Given the description of an element on the screen output the (x, y) to click on. 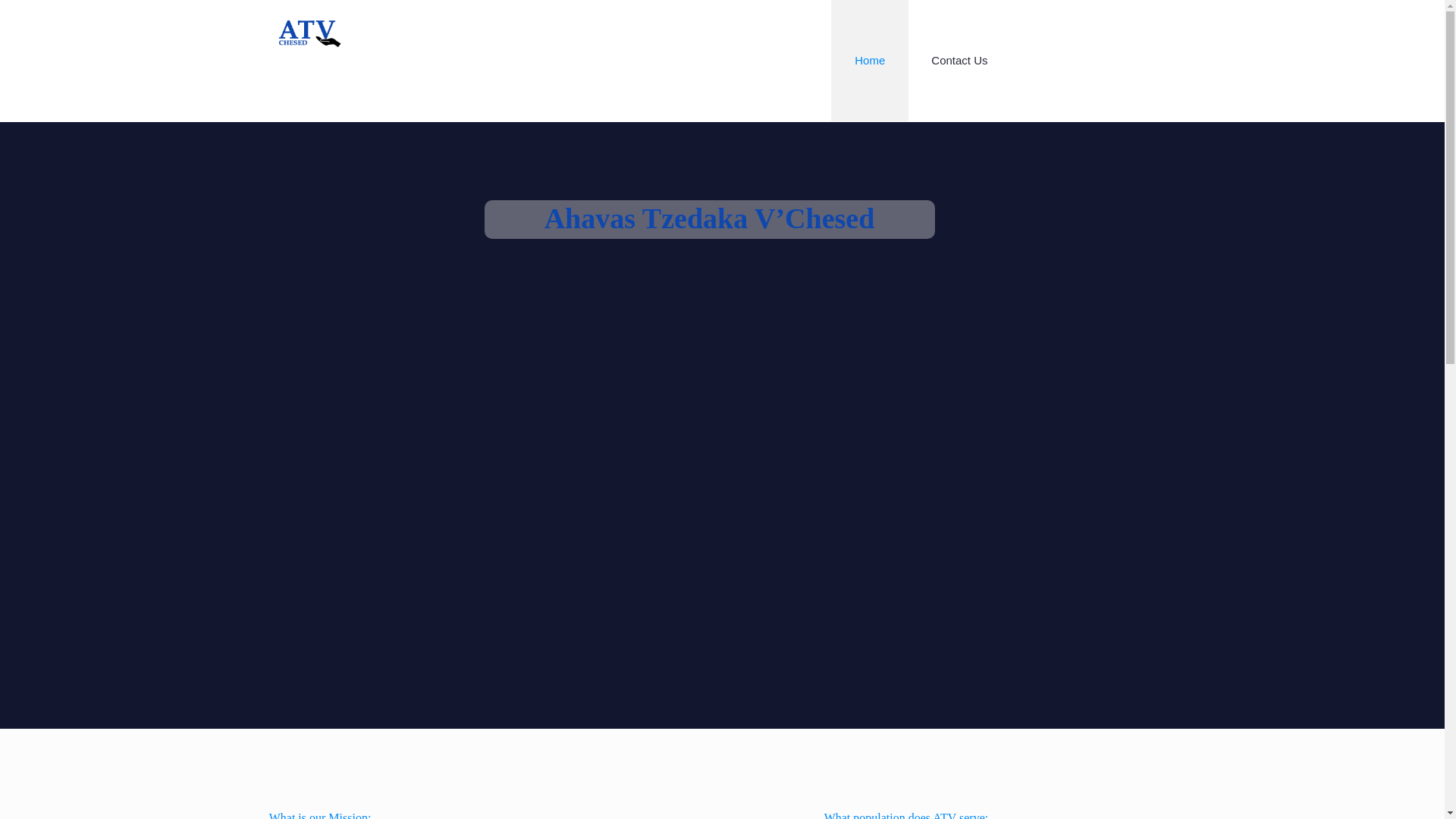
Cong Ahavas Tzedaka Vchesed (313, 30)
